Given the description of an element on the screen output the (x, y) to click on. 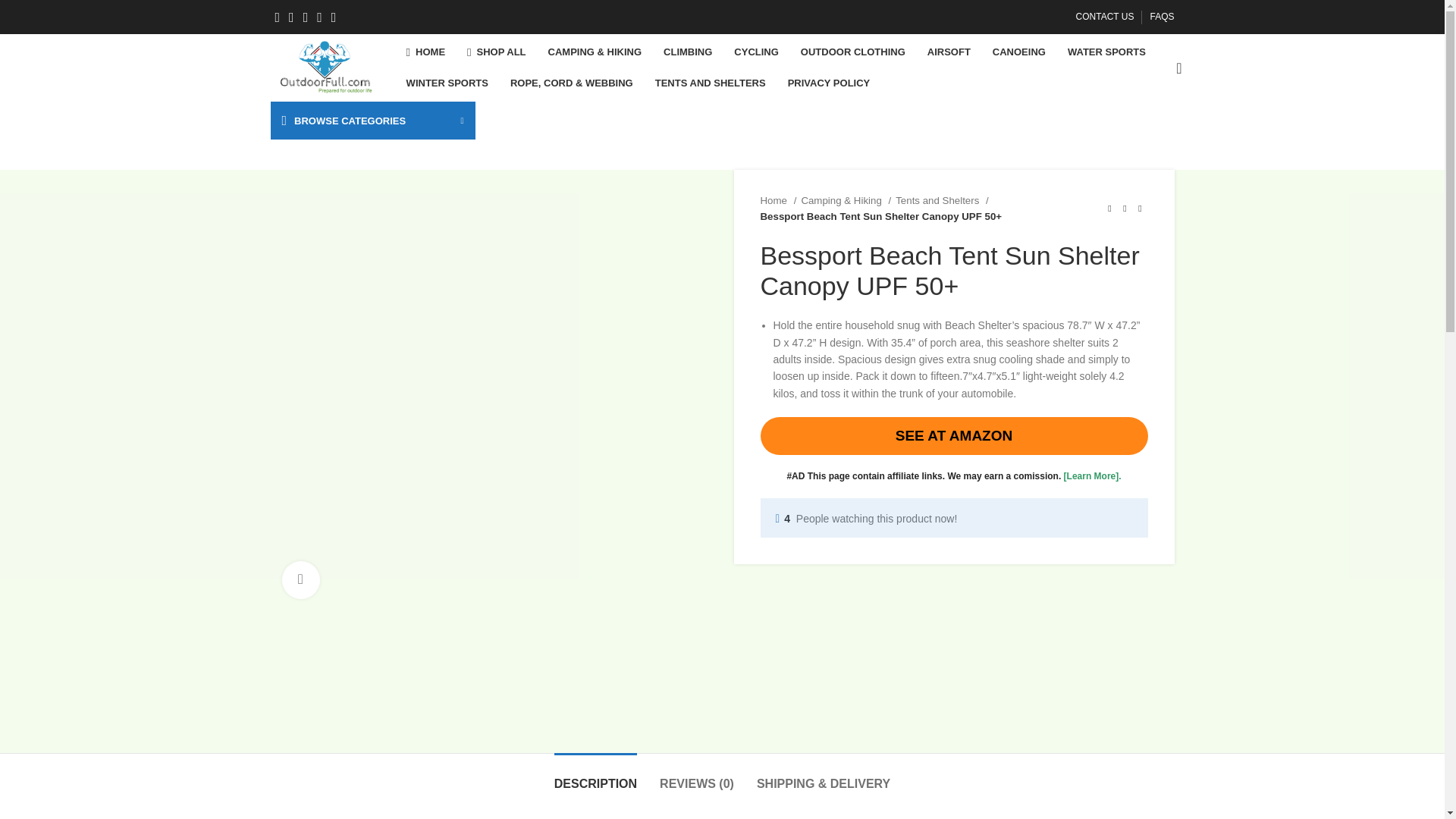
HOME (425, 51)
SHOP ALL (496, 51)
CONTACT US (1104, 16)
WINTER SPORTS (447, 82)
AIRSOFT (948, 51)
TENTS AND SHELTERS (710, 82)
CANOEING (1019, 51)
WATER SPORTS (1106, 51)
CYCLING (756, 51)
CLIMBING (686, 51)
